Given the description of an element on the screen output the (x, y) to click on. 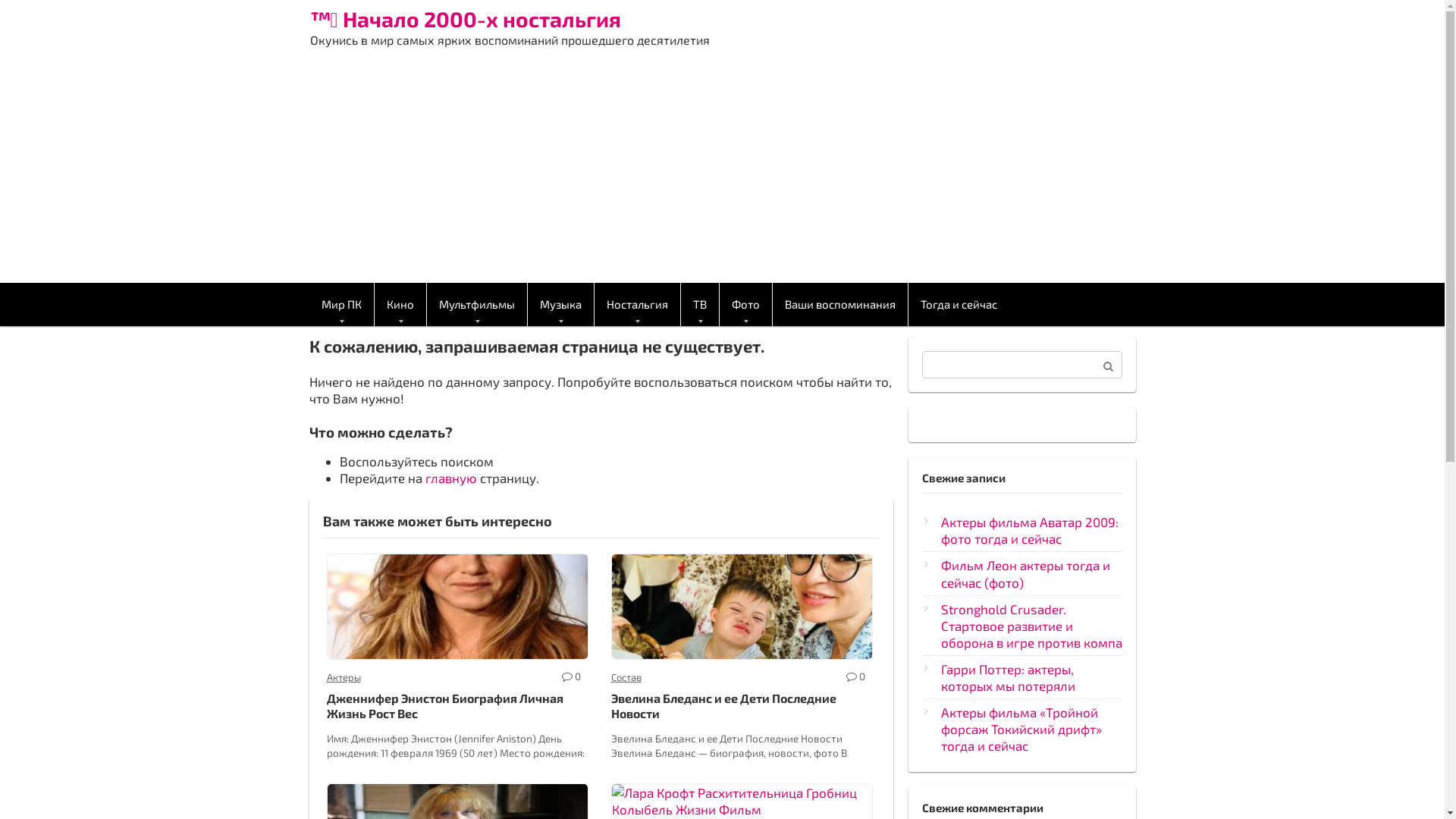
Advertisement Element type: hover (721, 168)
